Given the description of an element on the screen output the (x, y) to click on. 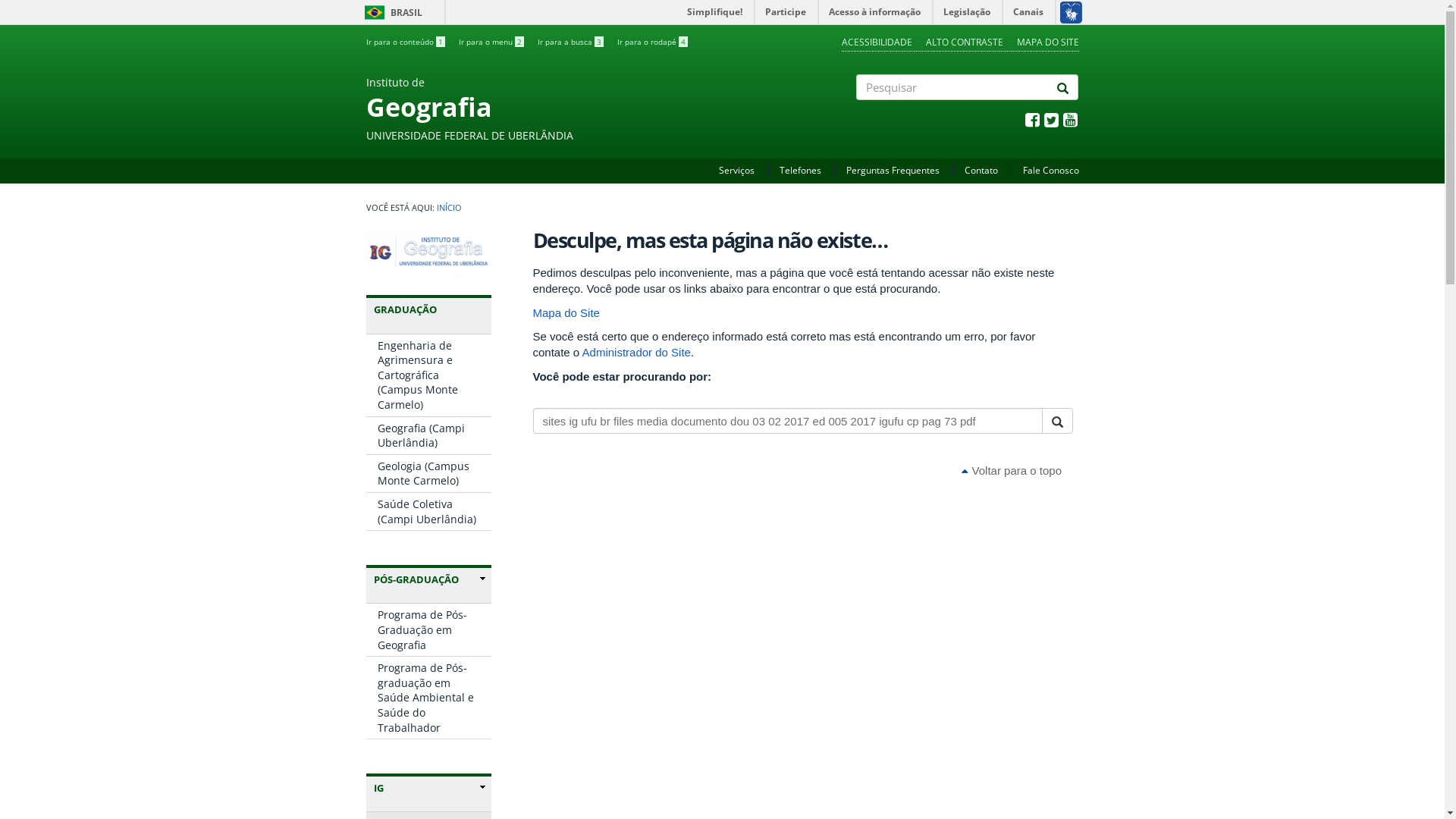
BRASIL Element type: text (373, 12)
Fale Conosco Element type: text (1050, 169)
Pesquisar Element type: text (532, 446)
Administrador do Site Element type: text (636, 351)
Voltar para o topo Element type: text (1011, 470)
Ir para o menu 2 Element type: text (490, 41)
Pesquisar Element type: text (856, 112)
Perguntas Frequentes Element type: text (892, 169)
Telefones Element type: text (800, 169)
Mapa do Site Element type: text (565, 312)
Contato Element type: text (980, 169)
Ir para a busca 3 Element type: text (569, 41)
Geologia (Campus Monte Carmelo) Element type: text (427, 473)
ALTO CONTRASTE Element type: text (963, 41)
MAPA DO SITE Element type: text (1047, 41)
ACESSIBILIDADE Element type: text (876, 41)
IG Element type: text (428, 787)
